Given the description of an element on the screen output the (x, y) to click on. 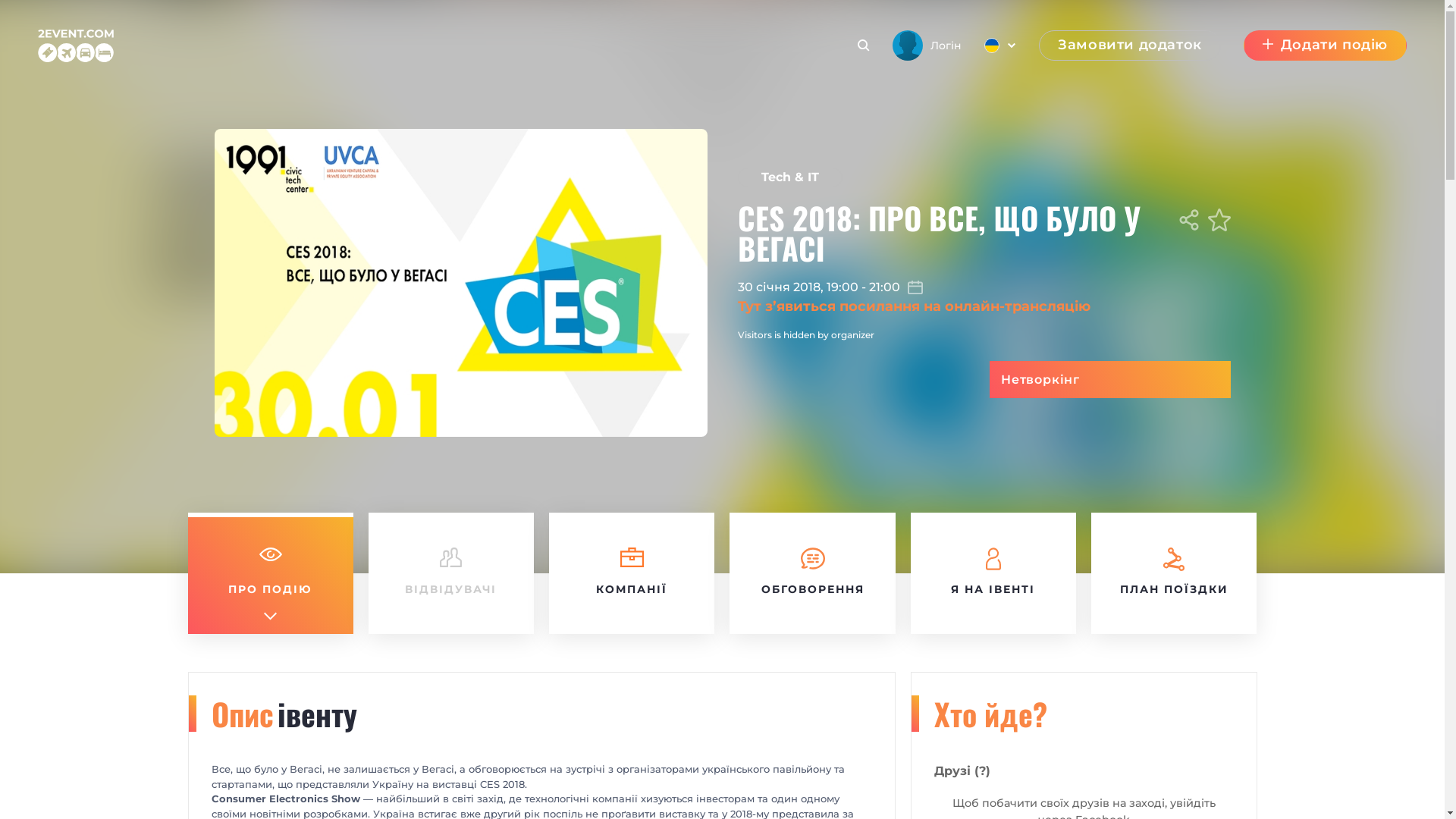
Tech & IT Element type: text (789, 177)
